Given the description of an element on the screen output the (x, y) to click on. 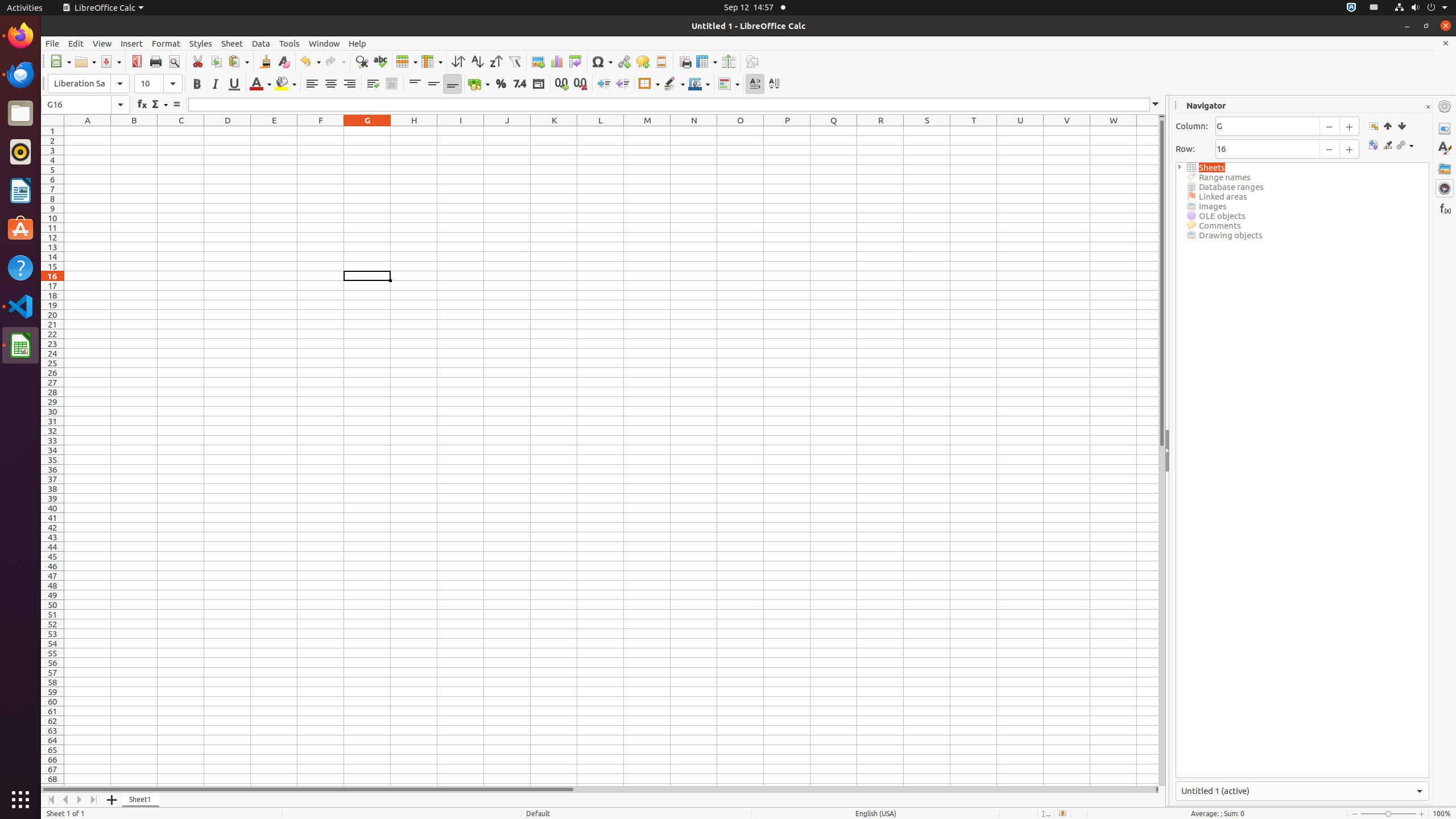
Visual Studio Code Element type: push-button (20, 306)
Name Box Element type: combo-box (85, 104)
Image Element type: push-button (537, 61)
I1 Element type: table-cell (460, 130)
Ubuntu Software Element type: push-button (20, 229)
